Given the description of an element on the screen output the (x, y) to click on. 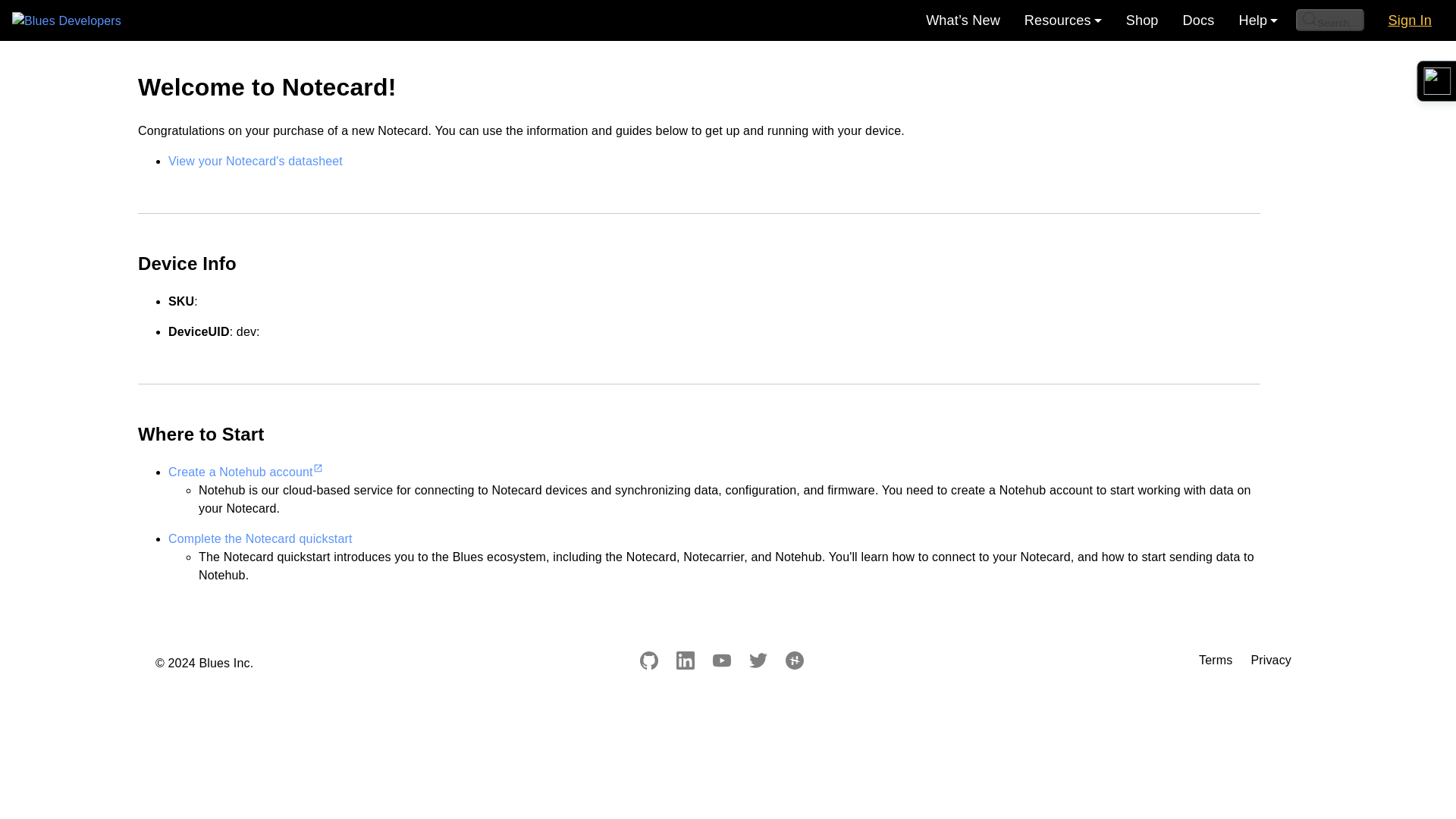
Sign In (1409, 20)
Complete the Notecard quickstart (260, 538)
View your Notecard's datasheet (255, 160)
Help (1257, 20)
Search... (1328, 20)
Create a Notehub account (244, 472)
Shop (1141, 20)
Docs (1198, 20)
Resources (1062, 20)
